Given the description of an element on the screen output the (x, y) to click on. 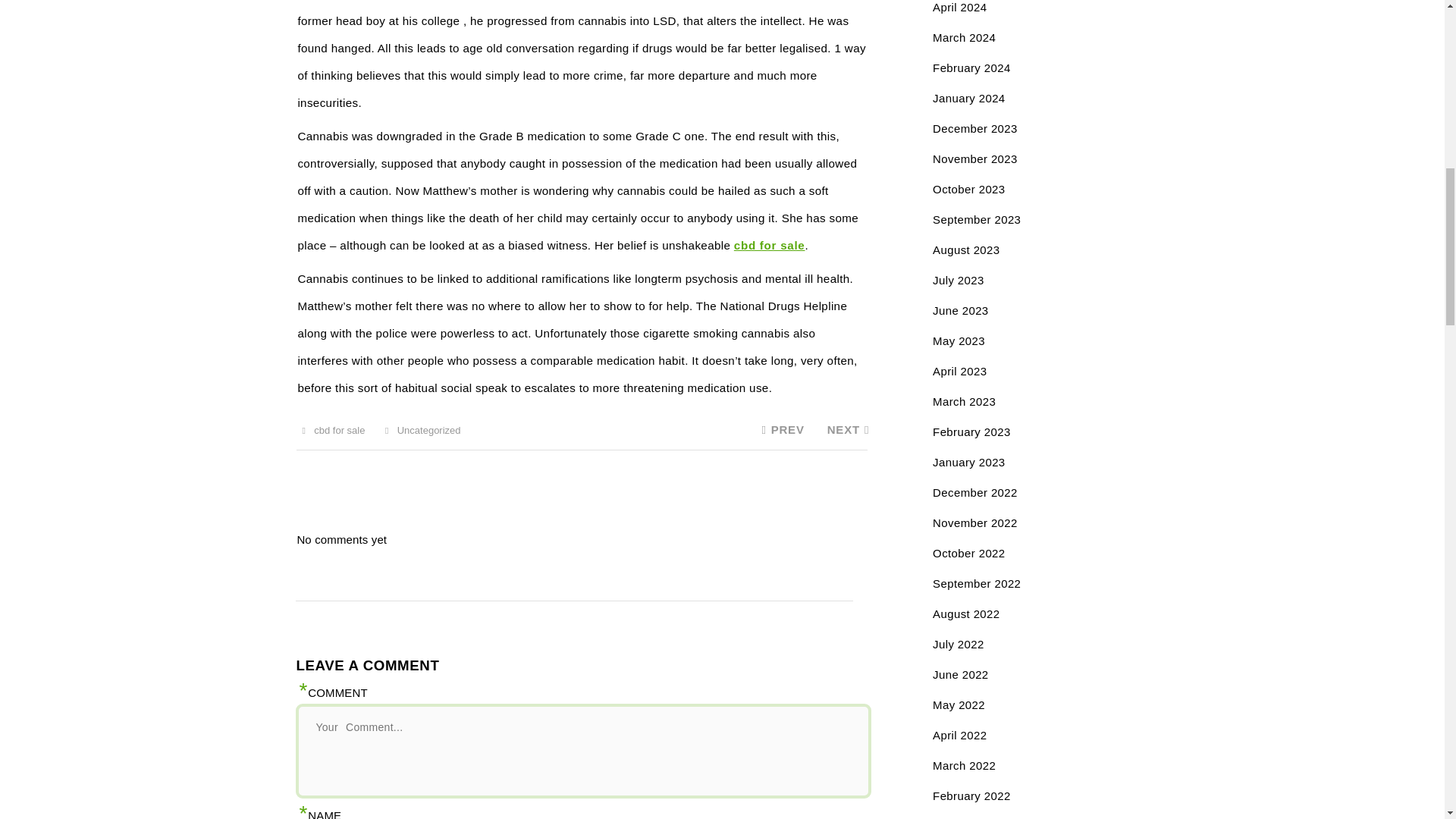
PREV (780, 429)
April 2024 (960, 6)
February 2024 (971, 67)
NEXT (848, 429)
cbd for sale (769, 245)
October 2023 (968, 188)
August 2023 (965, 249)
November 2023 (975, 158)
March 2024 (964, 37)
December 2023 (975, 128)
